Given the description of an element on the screen output the (x, y) to click on. 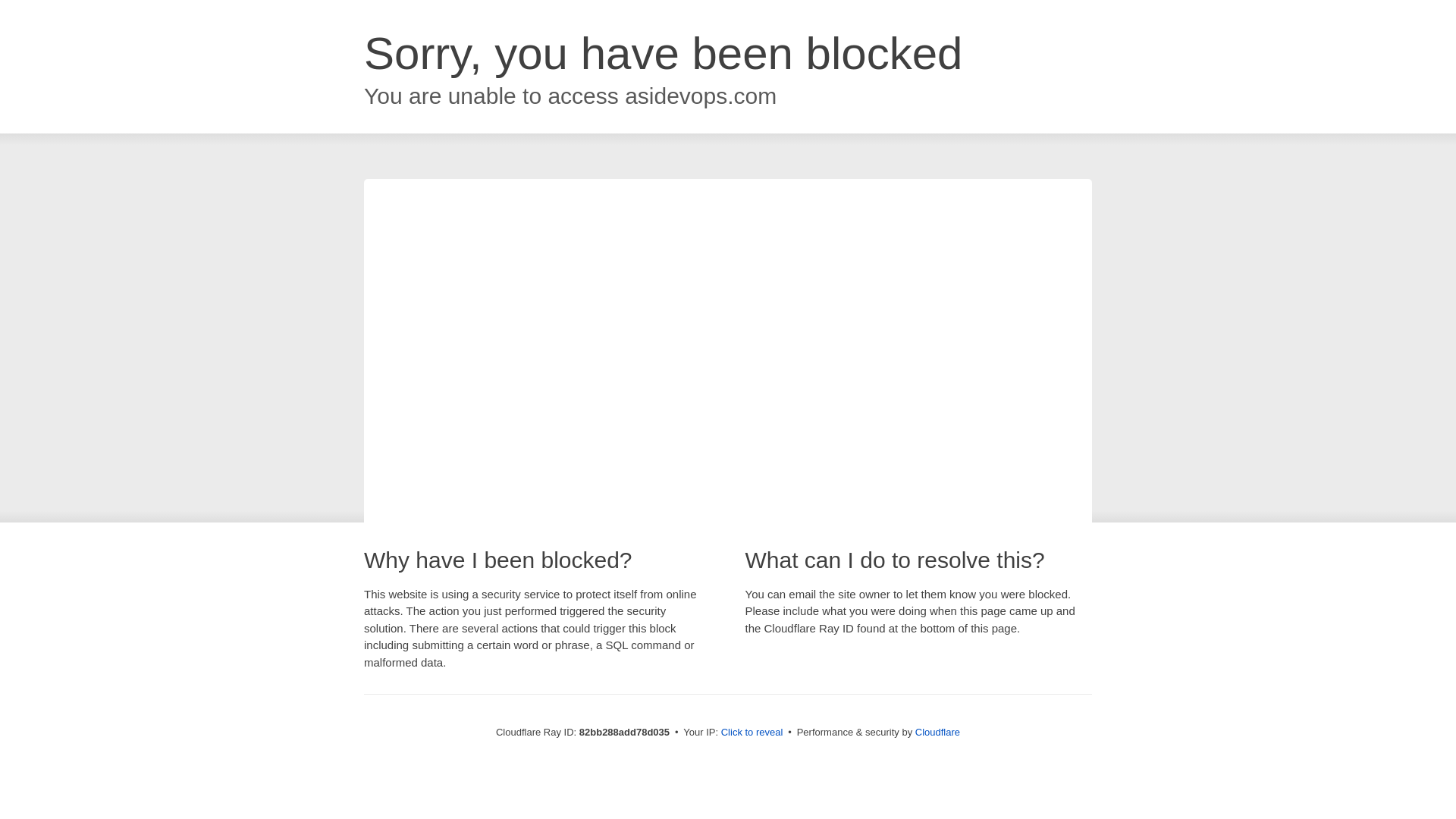
Click to reveal Element type: text (752, 732)
Cloudflare Element type: text (937, 731)
